Given the description of an element on the screen output the (x, y) to click on. 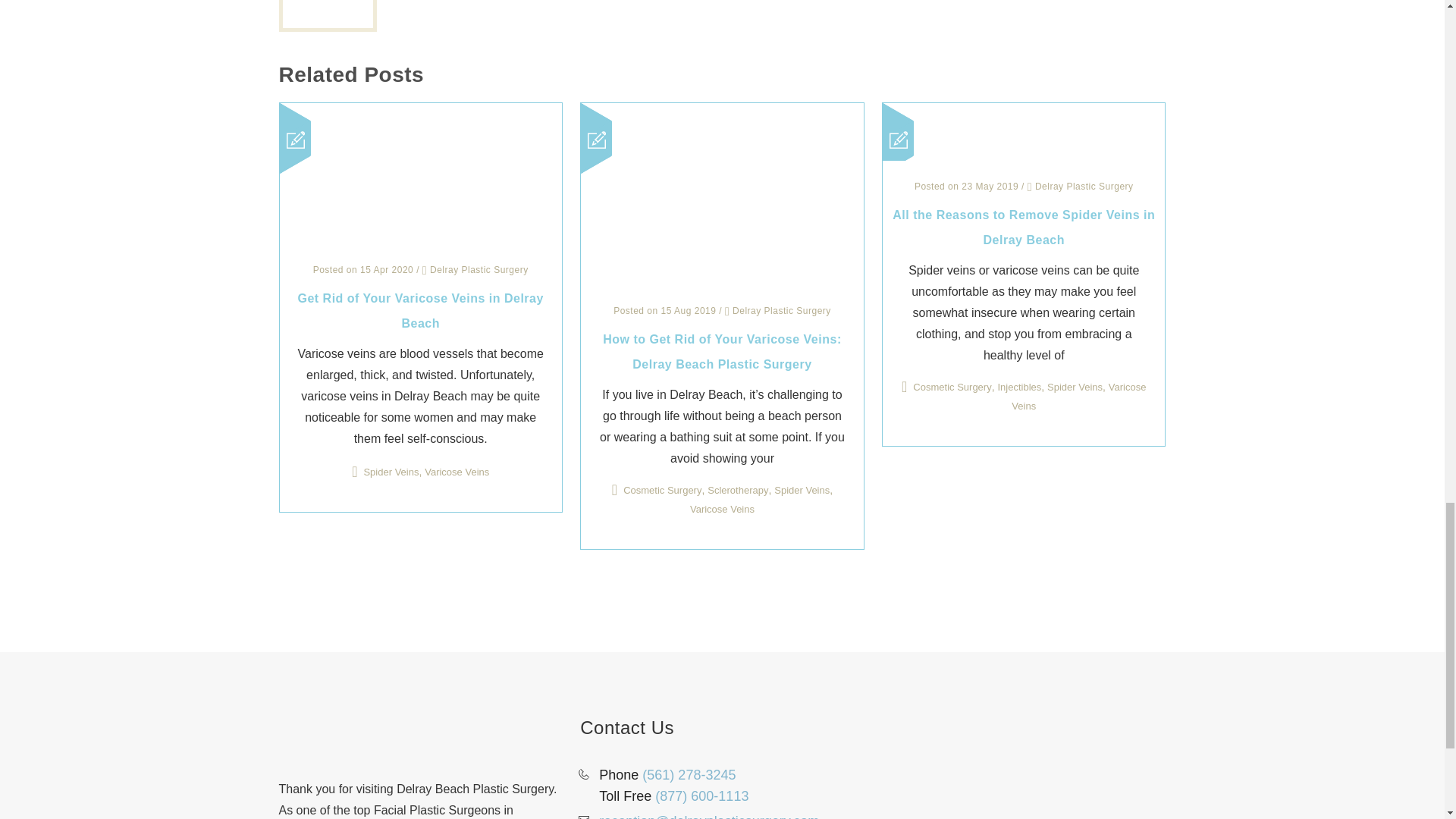
Gravatar for Delray Plastic Surgery (327, 13)
